Given the description of an element on the screen output the (x, y) to click on. 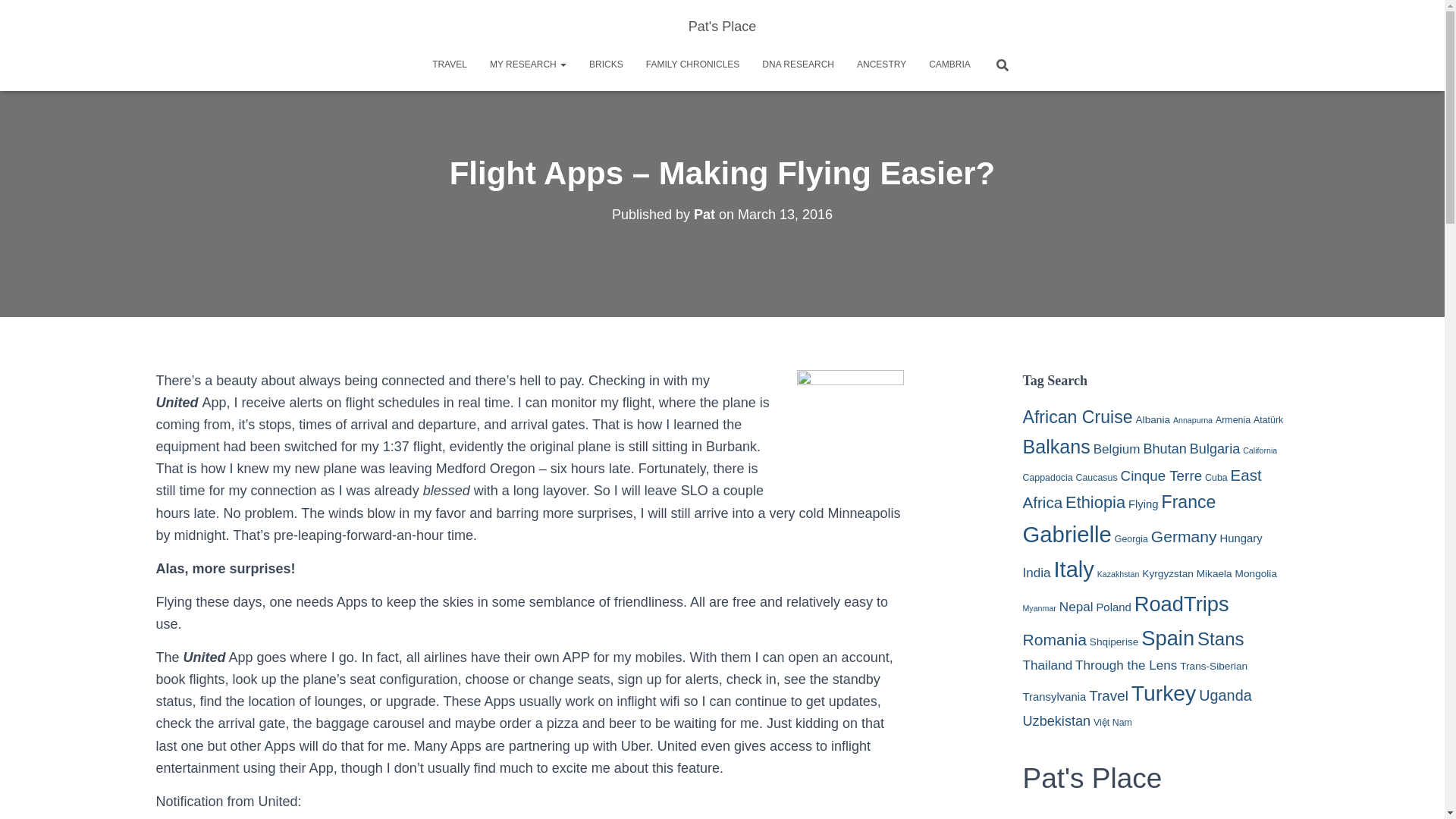
Travel (449, 64)
My Research (528, 64)
DNA RESEARCH (798, 64)
CAMBRIA (949, 64)
Search (16, 16)
TRAVEL (449, 64)
Pat's Place (722, 26)
Pat (704, 214)
Pat's Place (722, 26)
ANCESTRY (881, 64)
